Given the description of an element on the screen output the (x, y) to click on. 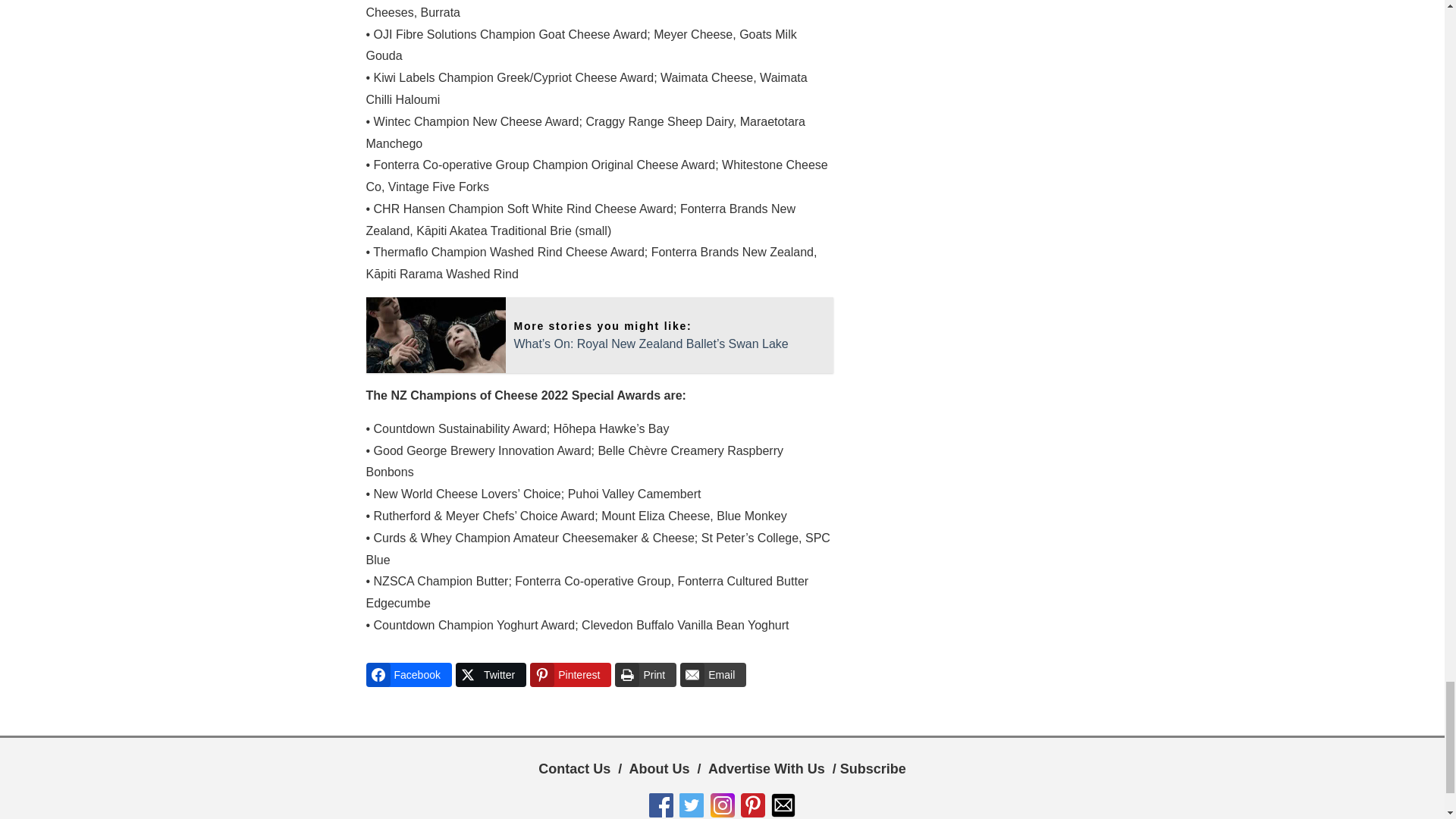
Facebook (408, 674)
Share on Pinterest (570, 674)
Twitter (490, 674)
Pinterest (570, 674)
Print (645, 674)
Share on Email (712, 674)
Advertise With Us (766, 768)
Share on Facebook (408, 674)
Email (712, 674)
About Us (659, 768)
Share on Twitter (490, 674)
Share on Print (645, 674)
Contact Us (574, 768)
